Given the description of an element on the screen output the (x, y) to click on. 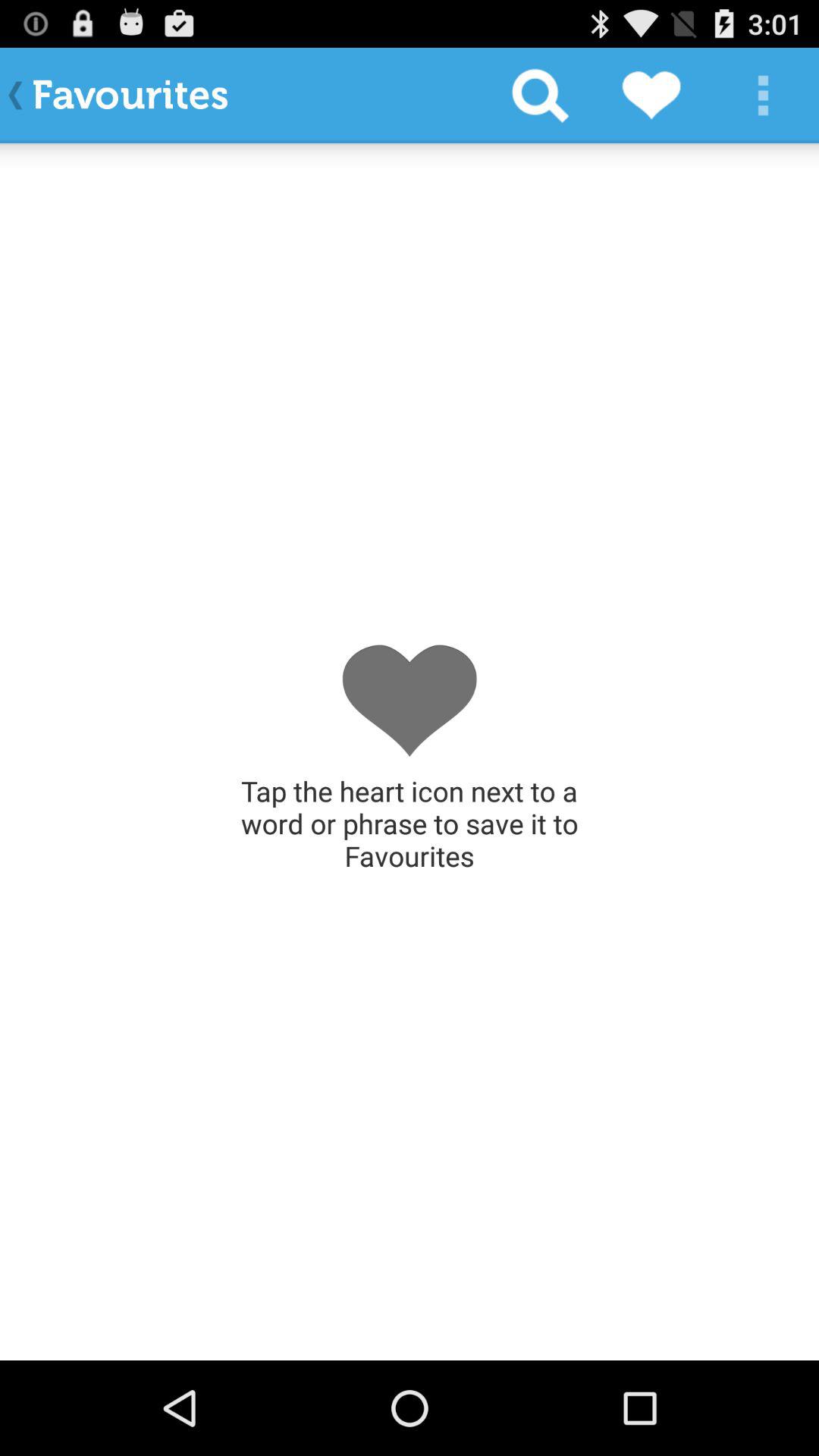
select the item at the top (540, 95)
